Given the description of an element on the screen output the (x, y) to click on. 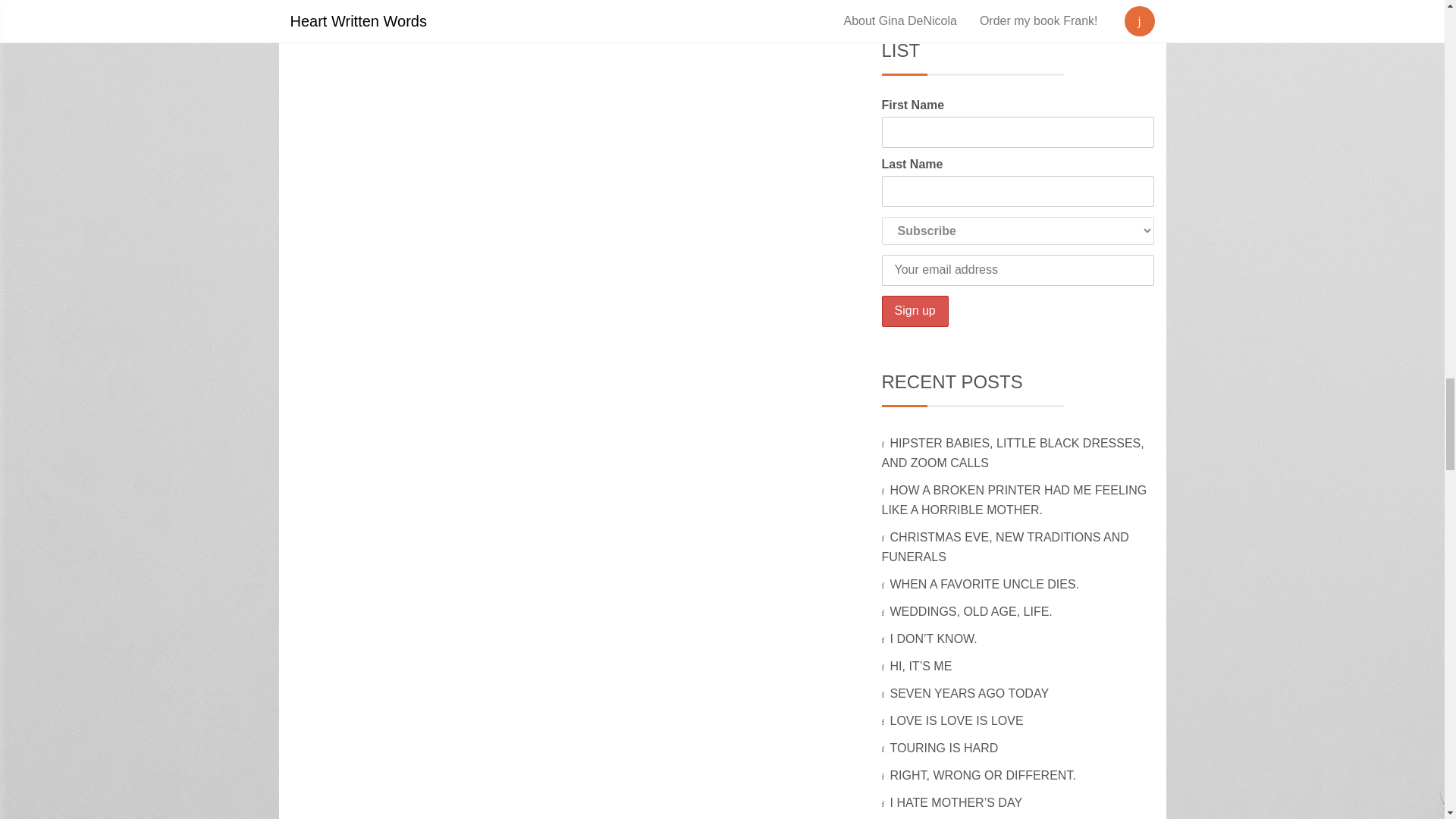
Sign up (913, 310)
